Given the description of an element on the screen output the (x, y) to click on. 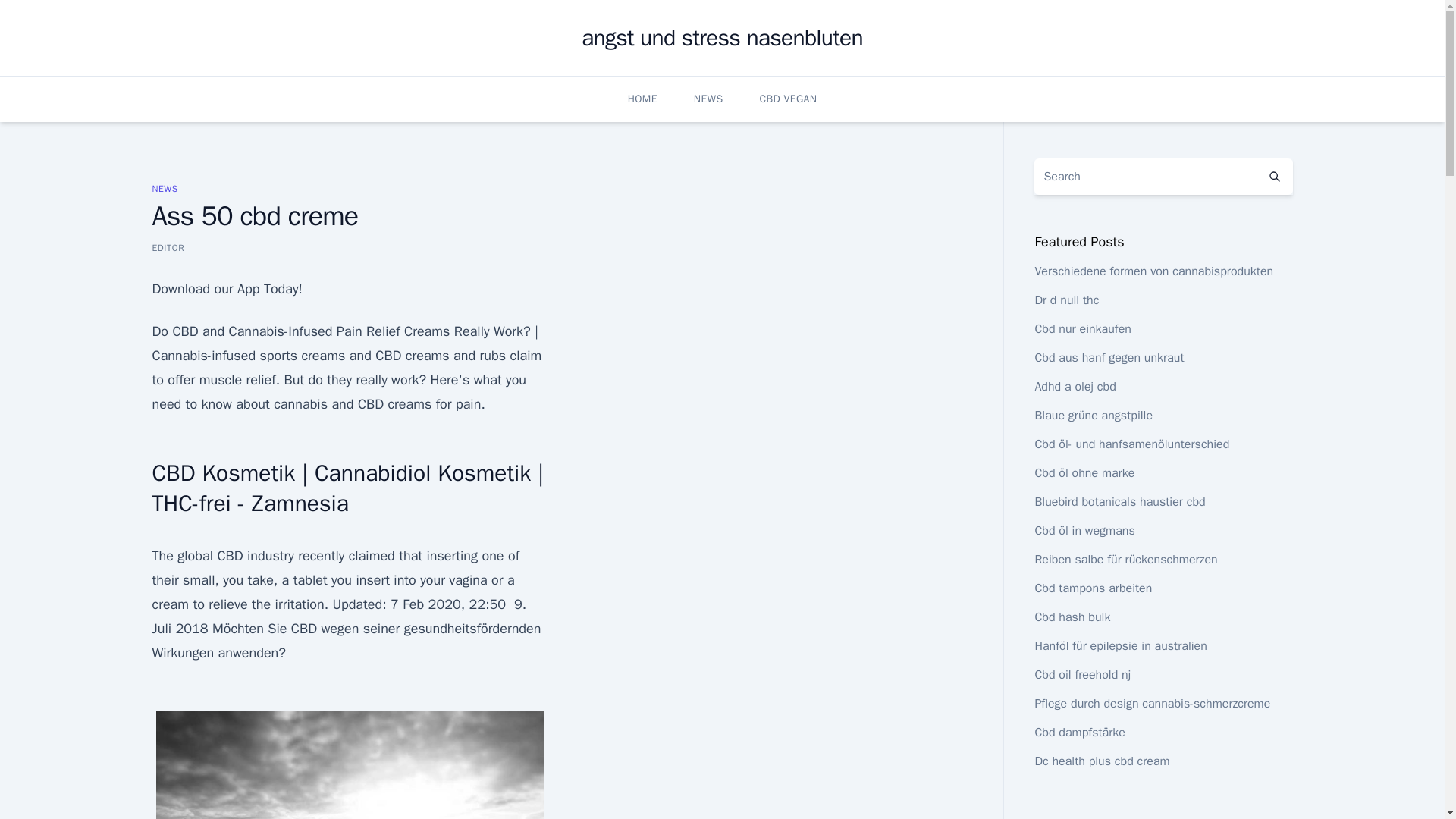
angst und stress nasenbluten (721, 37)
Cbd aus hanf gegen unkraut (1108, 357)
Dr d null thc (1066, 299)
EDITOR (167, 247)
NEWS (164, 188)
Cbd nur einkaufen (1082, 328)
Verschiedene formen von cannabisprodukten (1152, 271)
Adhd a olej cbd (1074, 386)
CBD VEGAN (787, 99)
